Given the description of an element on the screen output the (x, y) to click on. 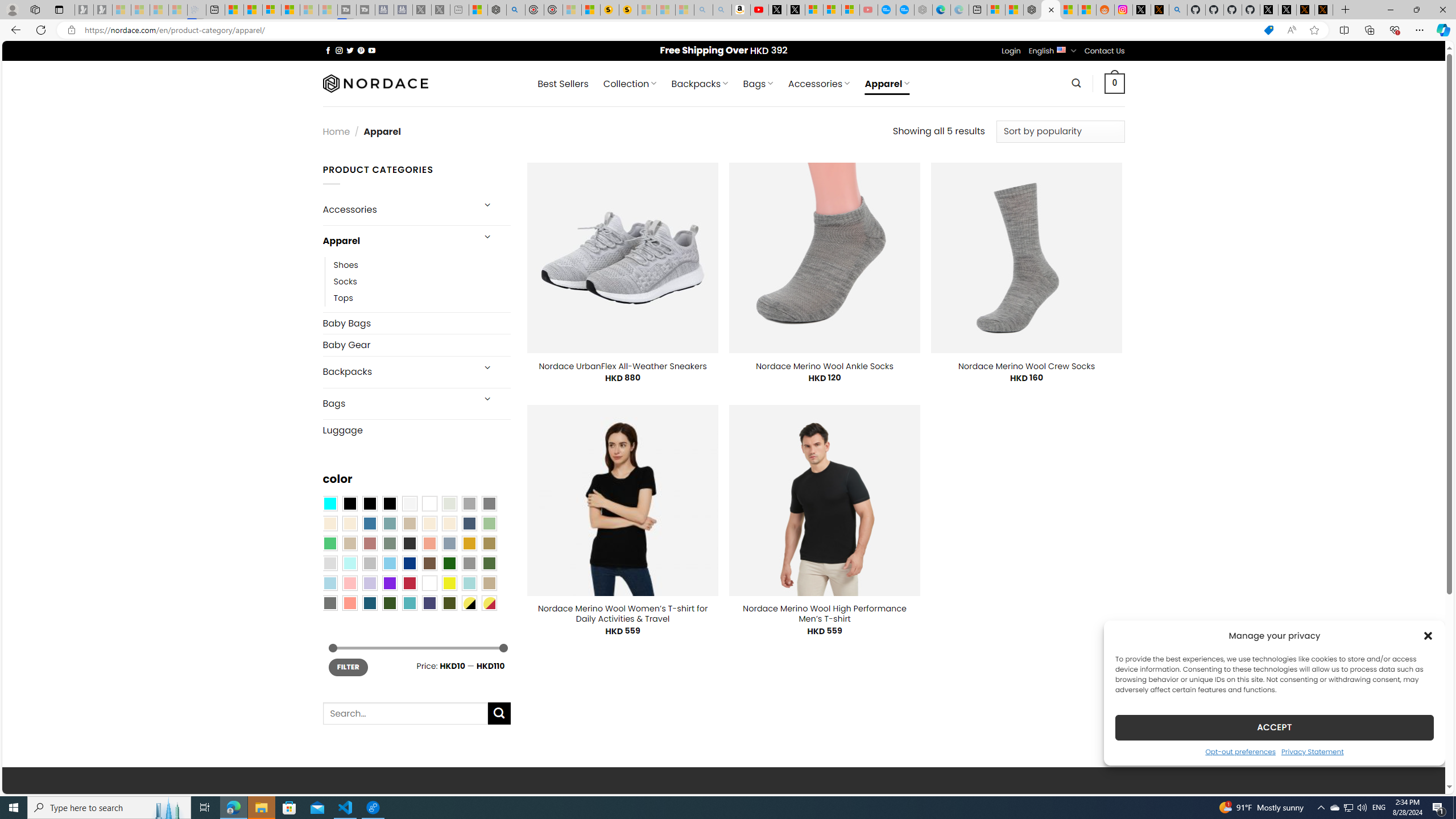
Pearly White (408, 503)
Opinion: Op-Ed and Commentary - USA TODAY (887, 9)
Coral (429, 542)
Brown (429, 562)
Nordace Merino Wool Crew Socks (1026, 365)
Privacy Statement (1312, 750)
Go to top (1421, 777)
Nordace Merino Wool Ankle Socks (824, 365)
Red (408, 582)
Light Green (488, 522)
Dark Gray (468, 503)
